Given the description of an element on the screen output the (x, y) to click on. 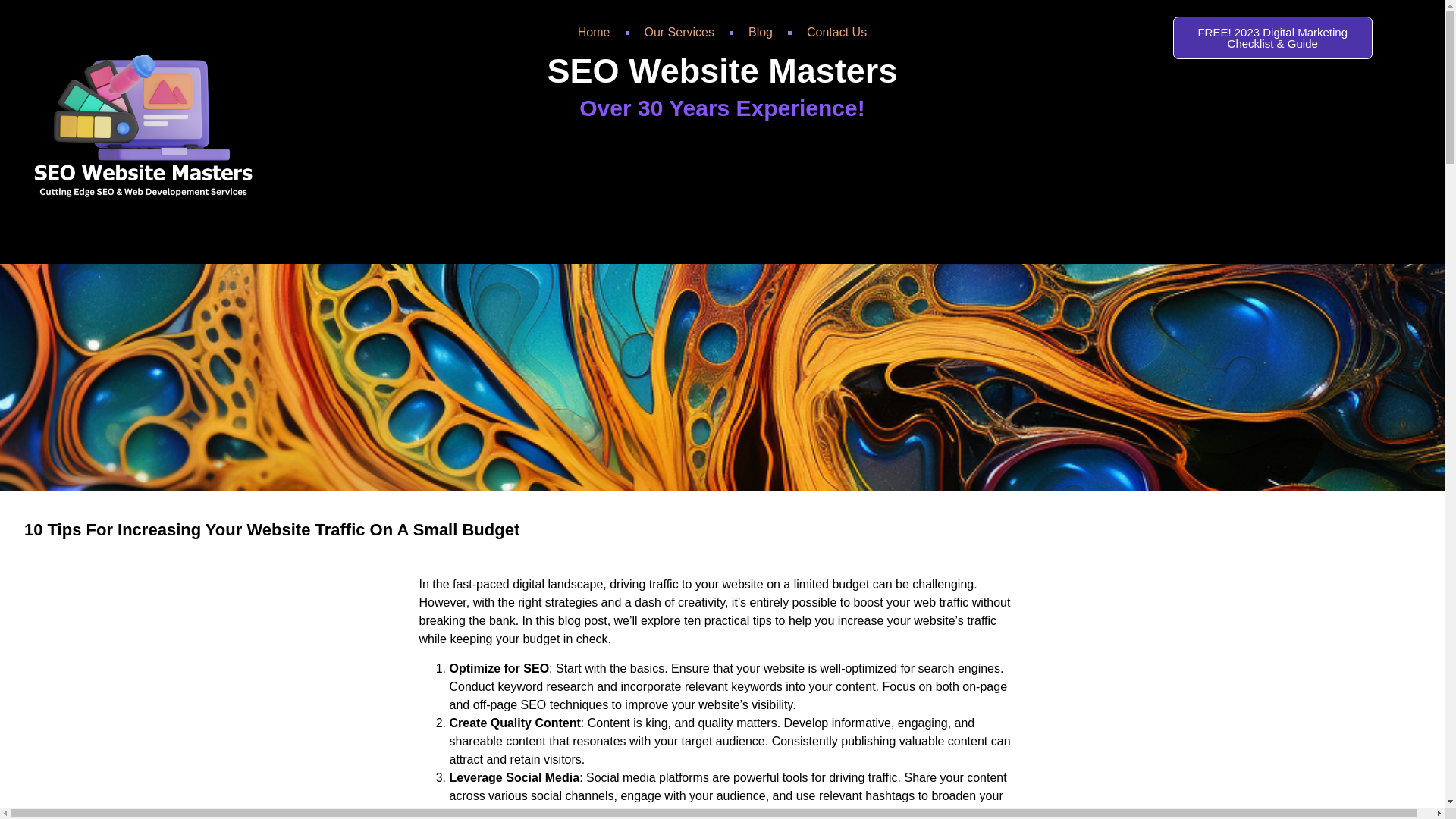
SEO Website Masters (722, 70)
Our Services (678, 32)
Contact Us (837, 32)
Blog (760, 32)
Home (594, 32)
